Given the description of an element on the screen output the (x, y) to click on. 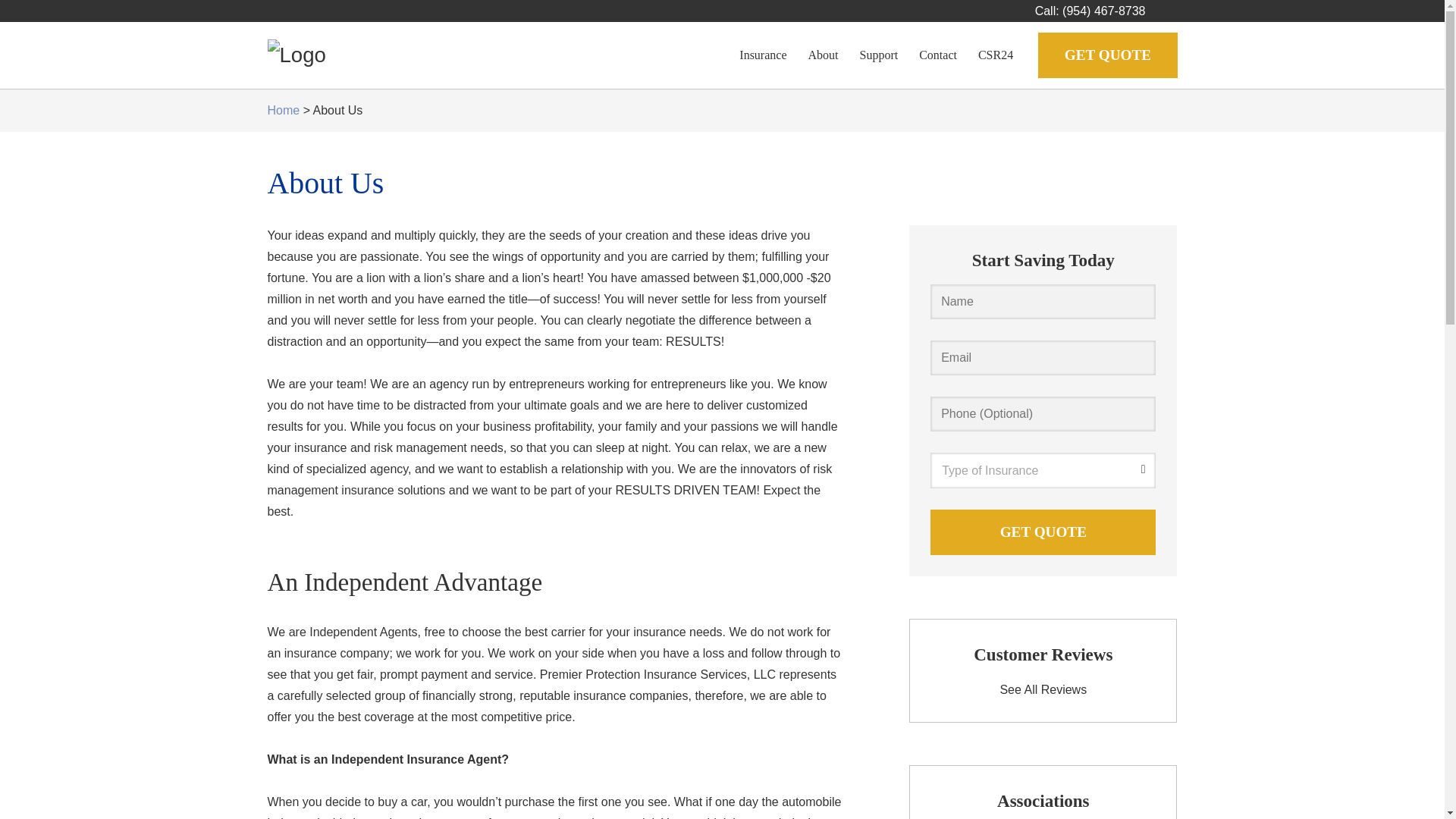
Logo (295, 54)
Get Quote (1043, 532)
Insurance (762, 55)
Home Page (411, 54)
